Given the description of an element on the screen output the (x, y) to click on. 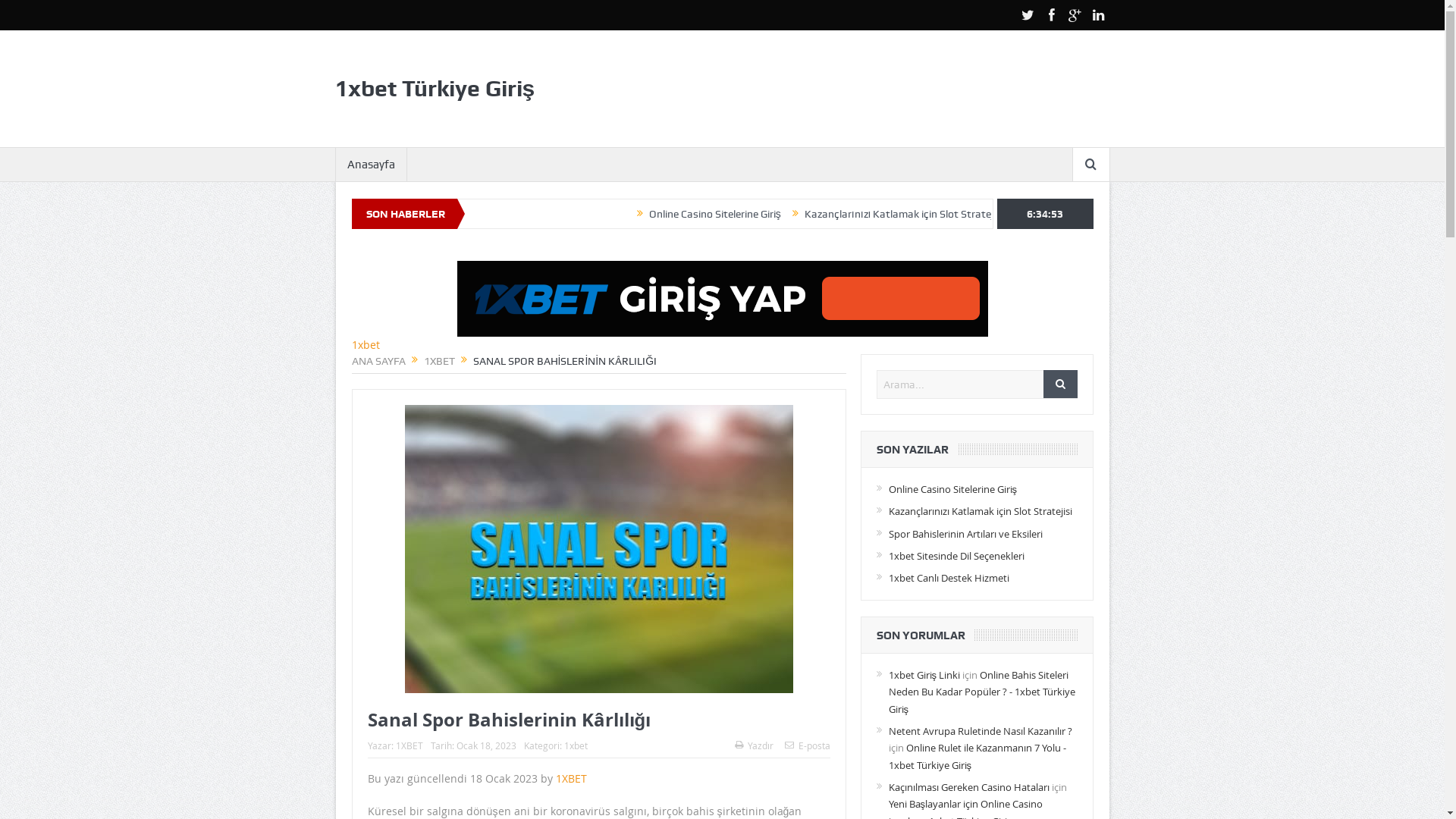
1xbet Element type: text (365, 344)
1XBET Element type: text (438, 360)
E-posta Element type: text (806, 745)
1xbet Element type: text (575, 745)
Anasayfa Element type: text (370, 164)
ANA SAYFA Element type: text (378, 360)
1XBET Element type: text (570, 778)
1XBET Element type: text (409, 745)
